Given the description of an element on the screen output the (x, y) to click on. 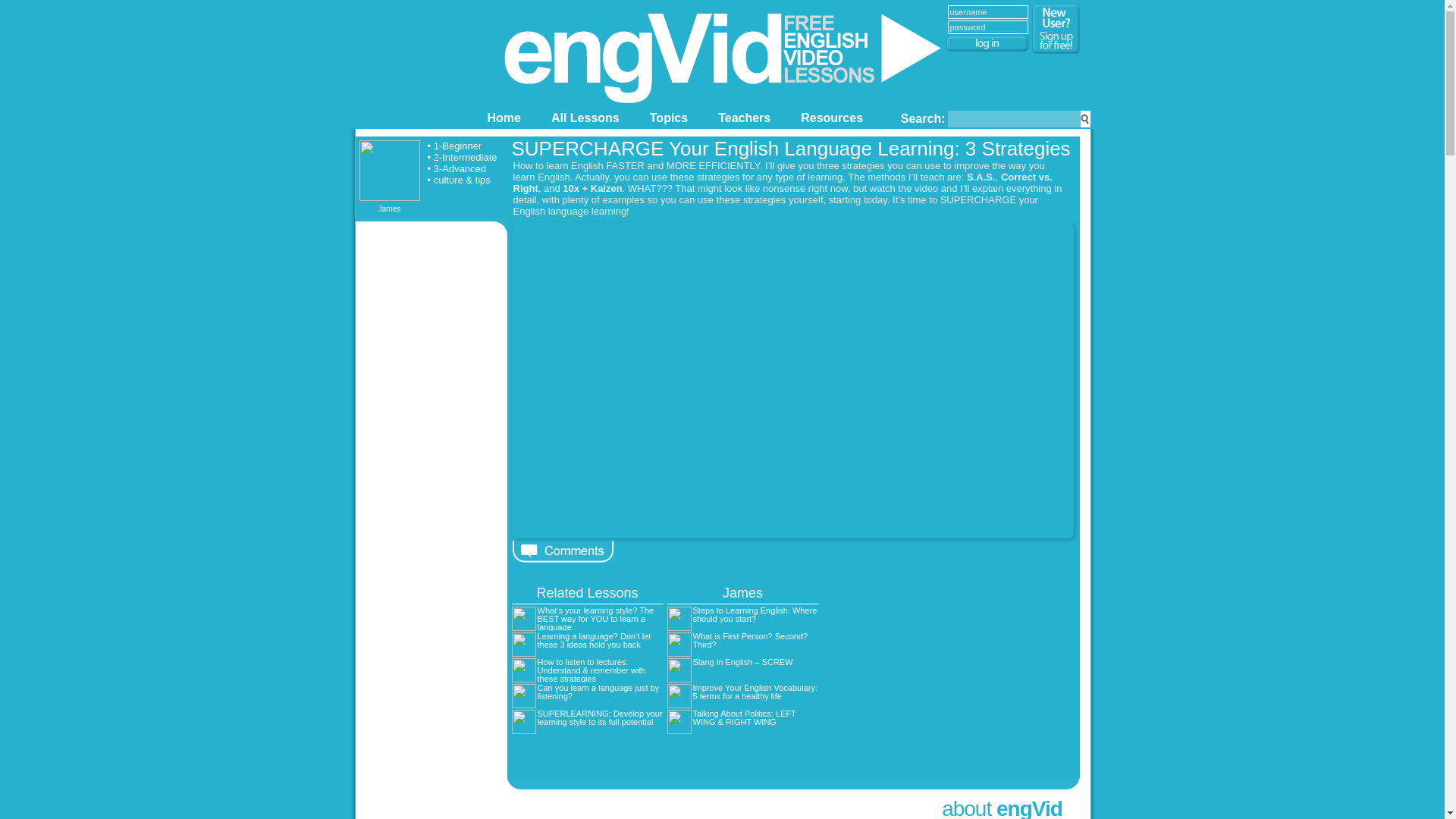
All English Lessons (585, 117)
3-Advanced (459, 168)
Resources (831, 117)
English Teachers (743, 117)
Advertisement (949, 669)
English Resources (831, 117)
James (389, 176)
2-Intermediate (465, 156)
Home (503, 117)
Topics (668, 117)
password (987, 27)
Home (503, 117)
All Lessons (585, 117)
SUPERCHARGE Your English Language Learning: 3 Strategies (790, 148)
